Given the description of an element on the screen output the (x, y) to click on. 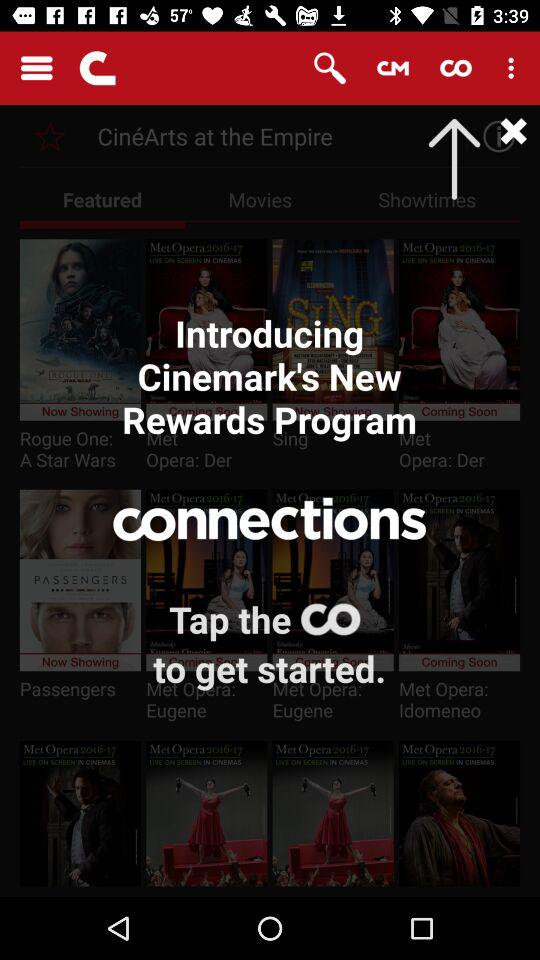
close advertisement (493, 136)
